Given the description of an element on the screen output the (x, y) to click on. 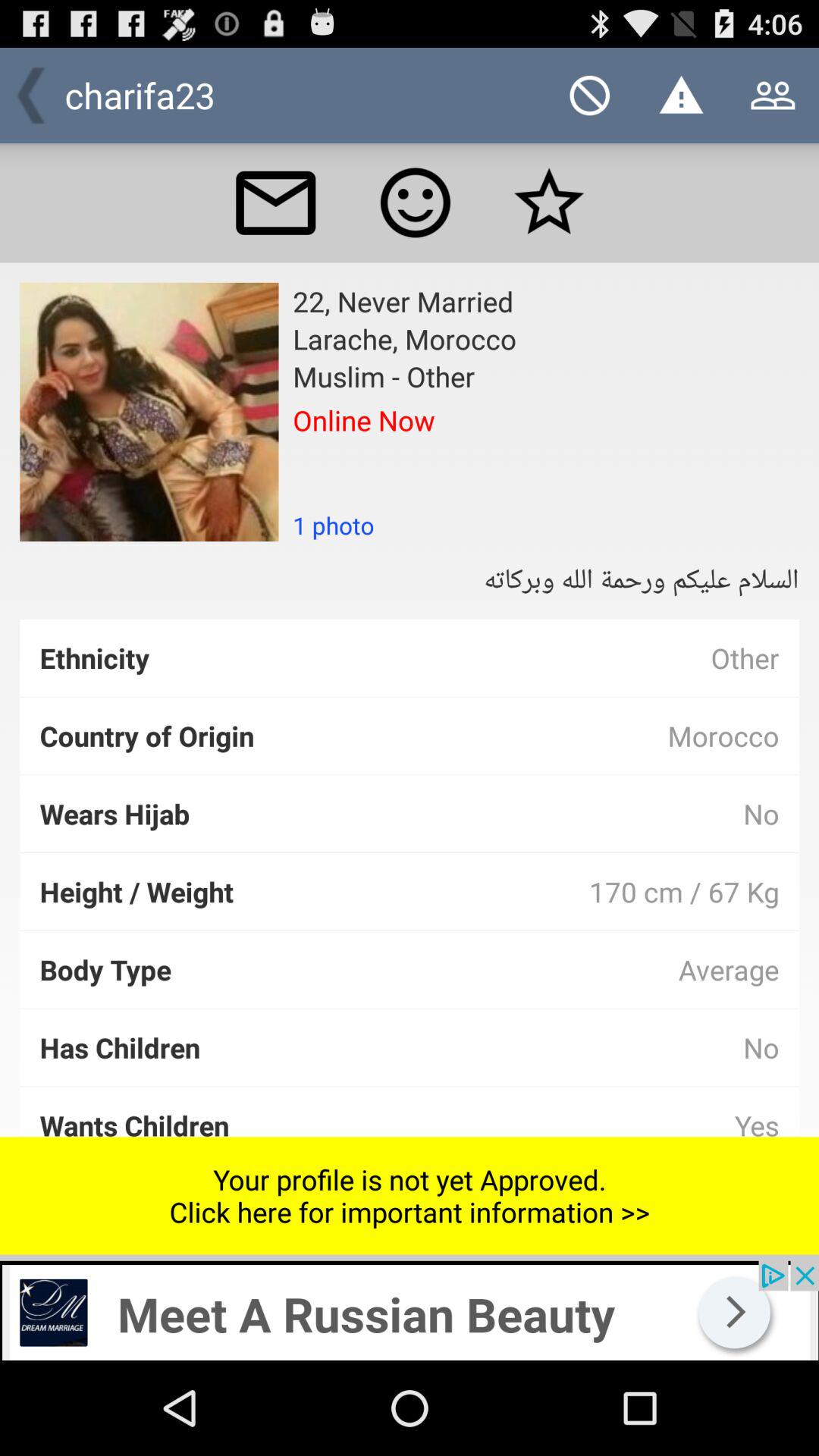
view profile image (148, 411)
